Given the description of an element on the screen output the (x, y) to click on. 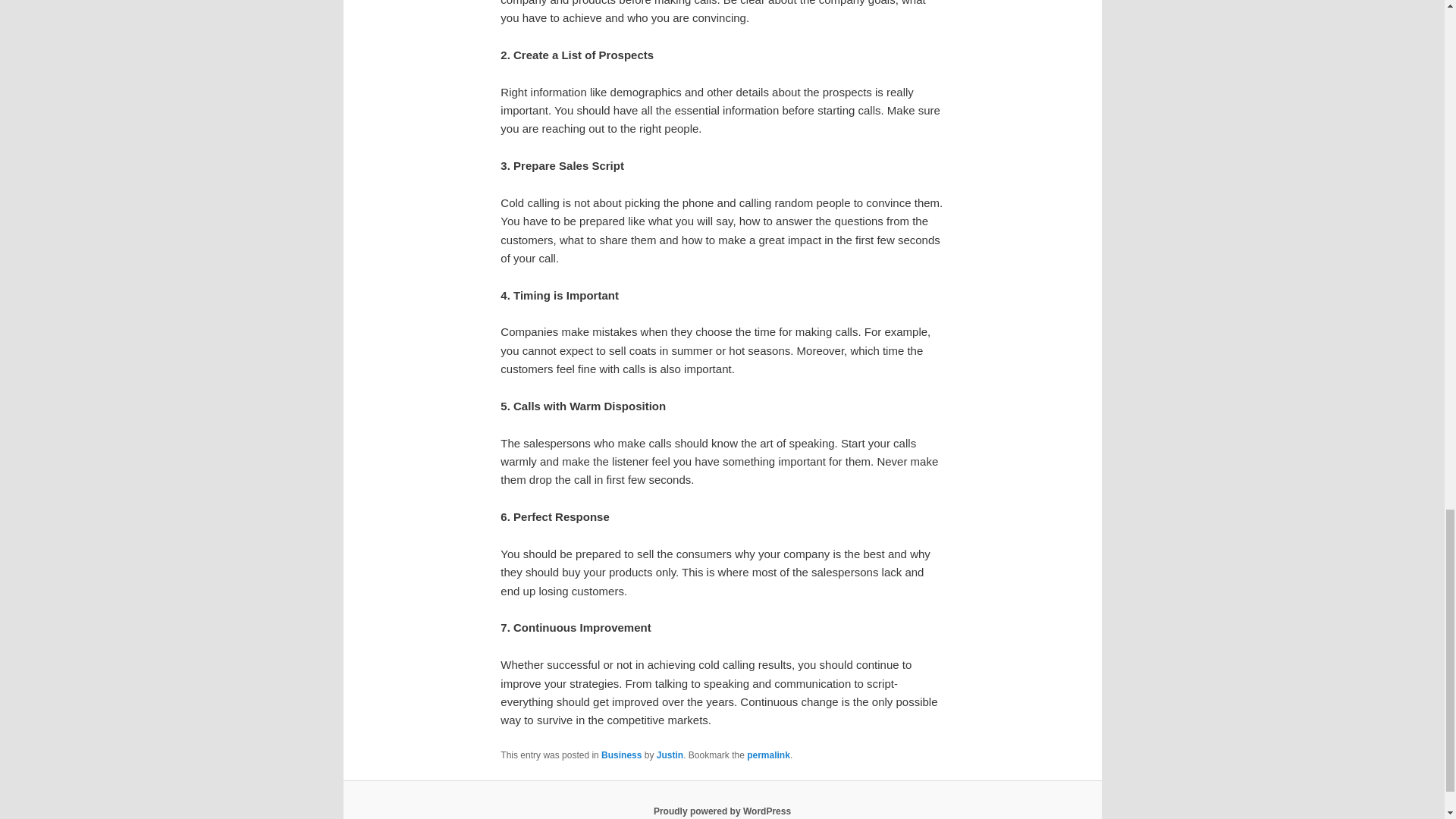
Semantic Personal Publishing Platform (721, 810)
permalink (768, 755)
Business (621, 755)
Justin (669, 755)
Proudly powered by WordPress (721, 810)
